Given the description of an element on the screen output the (x, y) to click on. 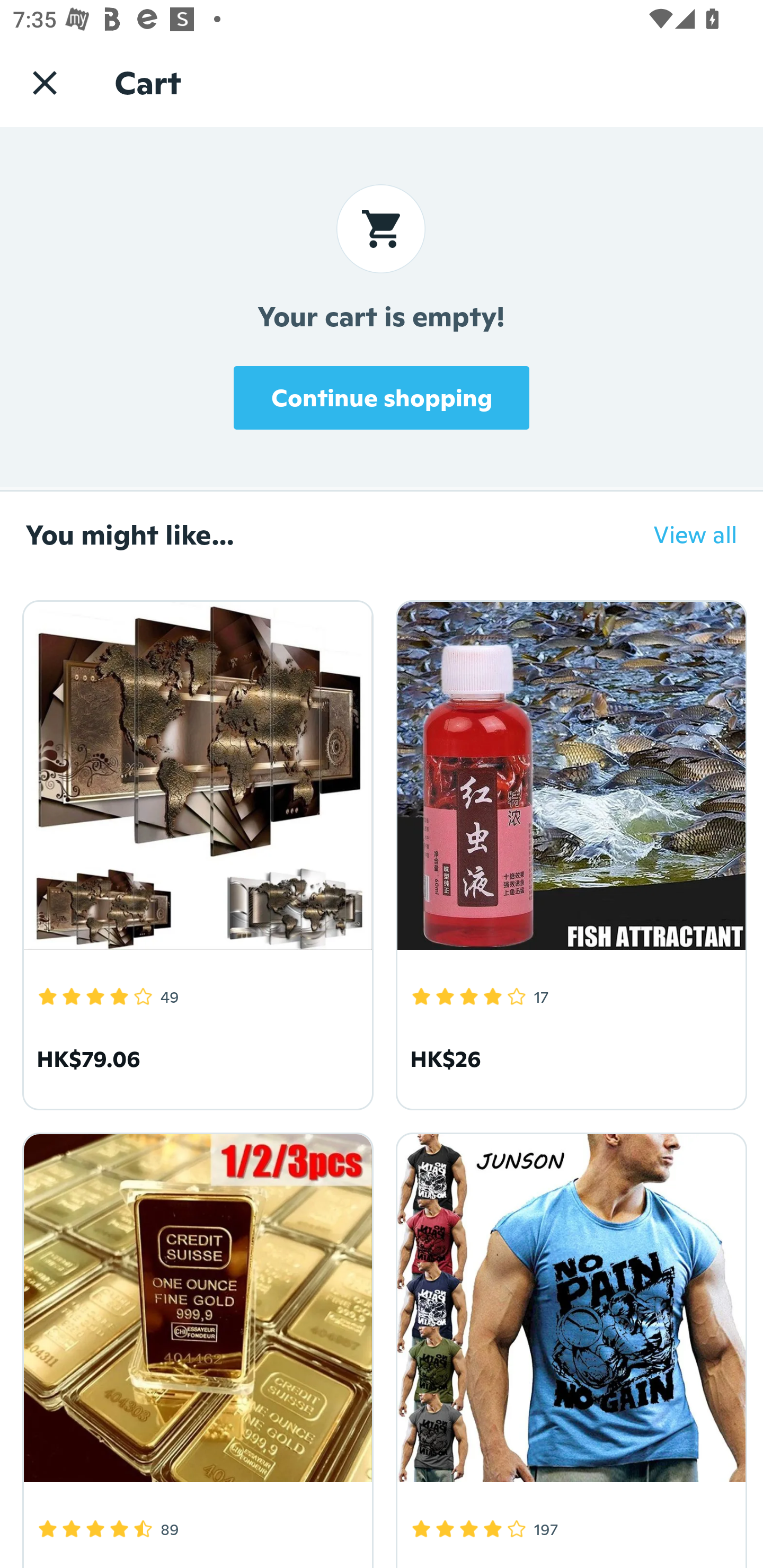
Navigate up (44, 82)
Continue shopping (381, 397)
View all (682, 534)
4 Star Rating 49 HK$79.06 (194, 852)
4.2 Star Rating 17 HK$26 (567, 852)
4.5 Star Rating 89 (194, 1346)
4.2 Star Rating 197 (567, 1346)
